Given the description of an element on the screen output the (x, y) to click on. 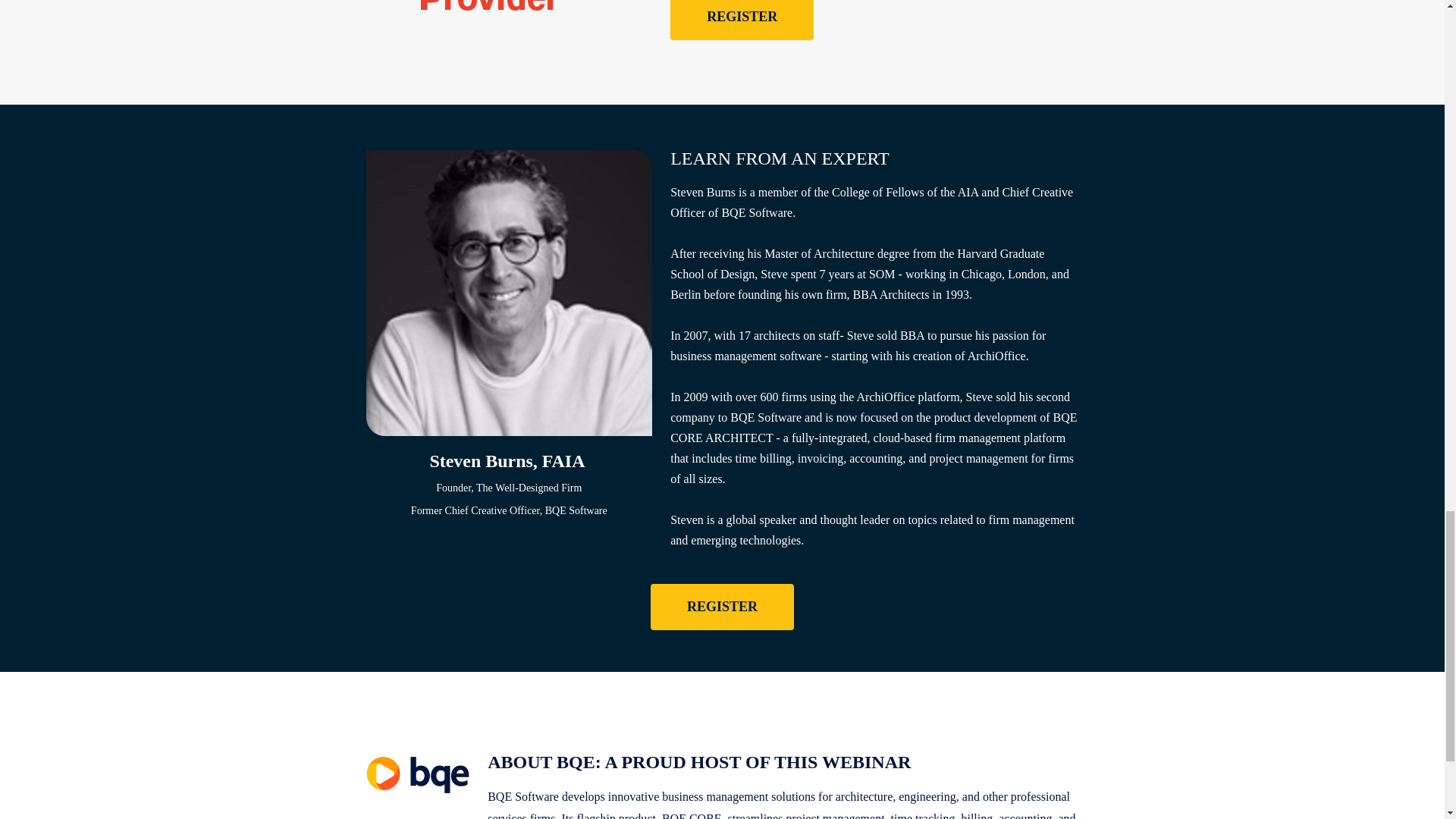
REGISTER (741, 20)
REGISTER (721, 606)
Steven-Burns-Headshotv2 (508, 292)
